Given the description of an element on the screen output the (x, y) to click on. 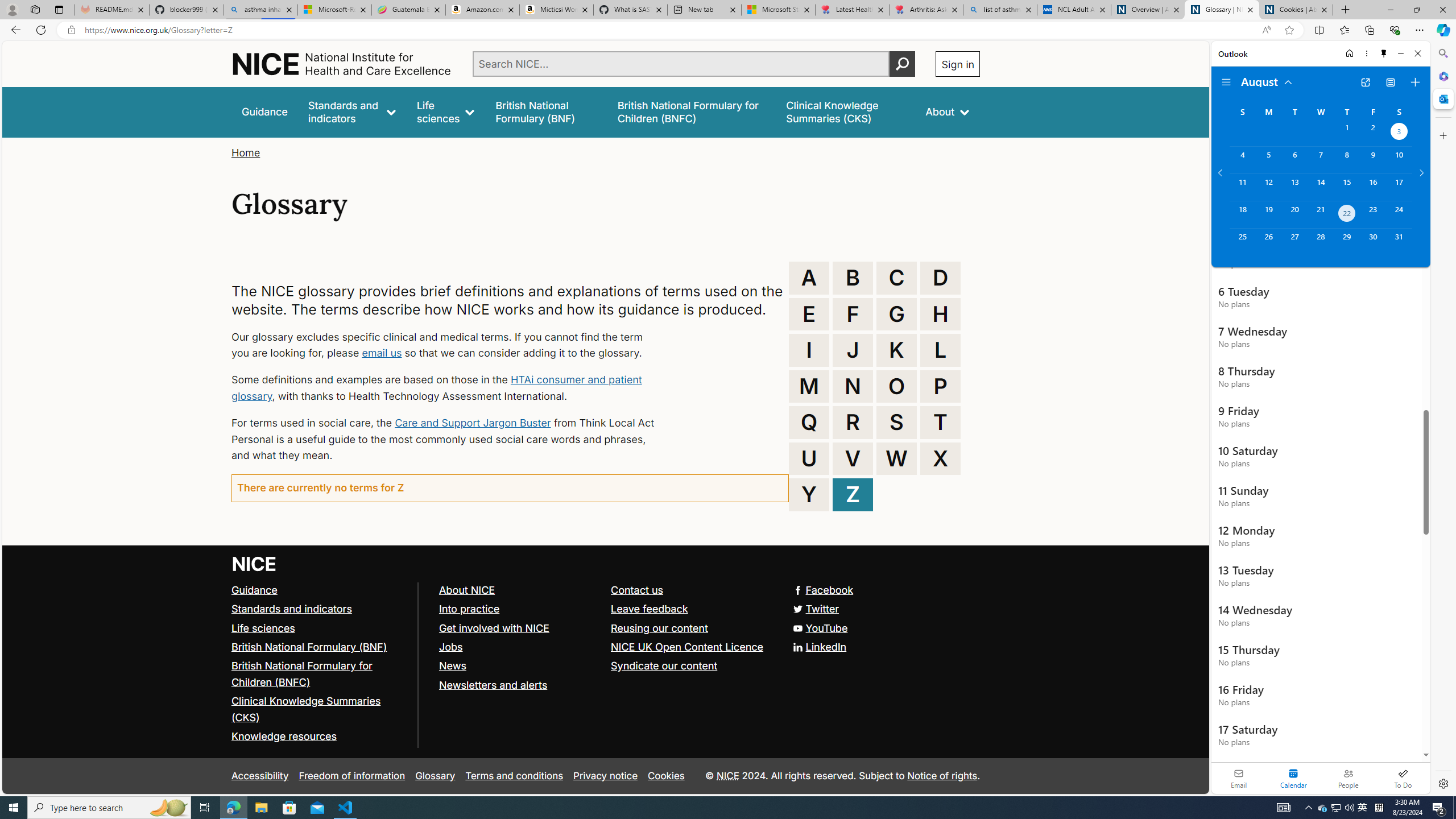
F (852, 313)
V (852, 458)
T (940, 422)
View Switcher. Current view is Agenda view (1390, 82)
Twitter (816, 608)
People (1347, 777)
Sunday, August 25, 2024.  (1242, 241)
